Given the description of an element on the screen output the (x, y) to click on. 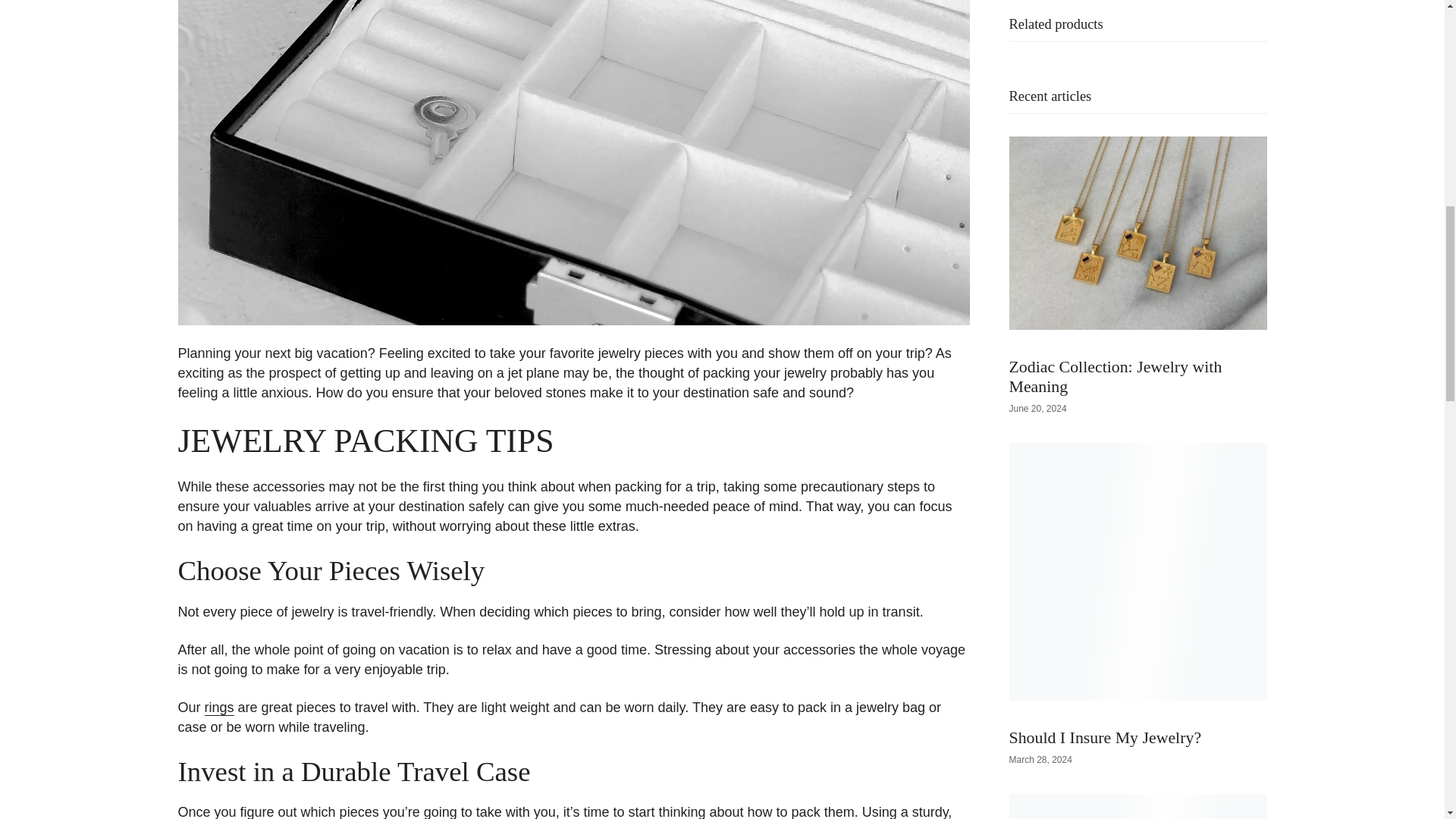
Should I Insure My Jewelry? (1105, 376)
Zodiac Collection: Jewelry with Meaning (1115, 17)
Who Invented Necklaces? (1095, 728)
